Given the description of an element on the screen output the (x, y) to click on. 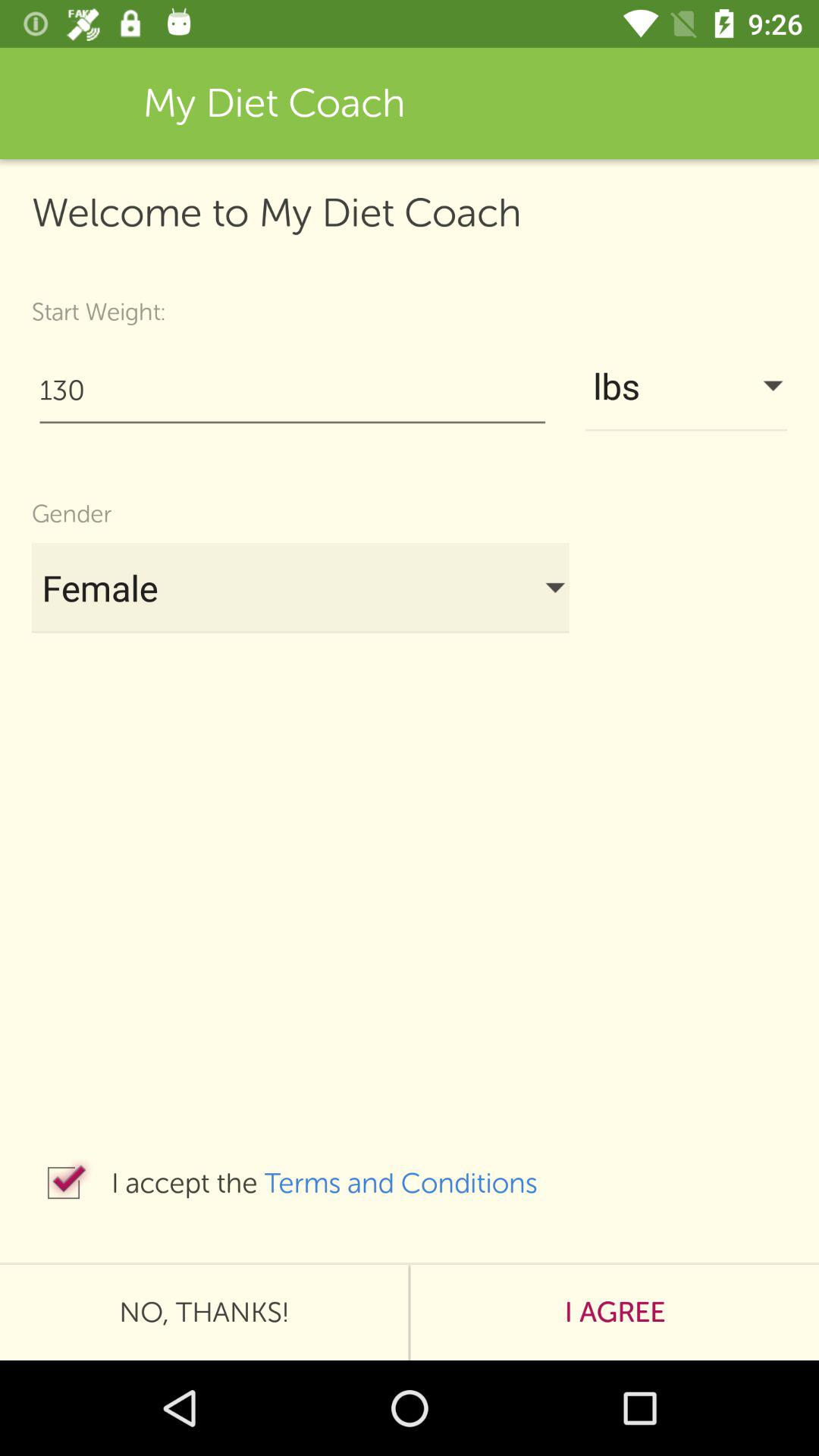
select the i agree at the bottom right corner (614, 1312)
